Given the description of an element on the screen output the (x, y) to click on. 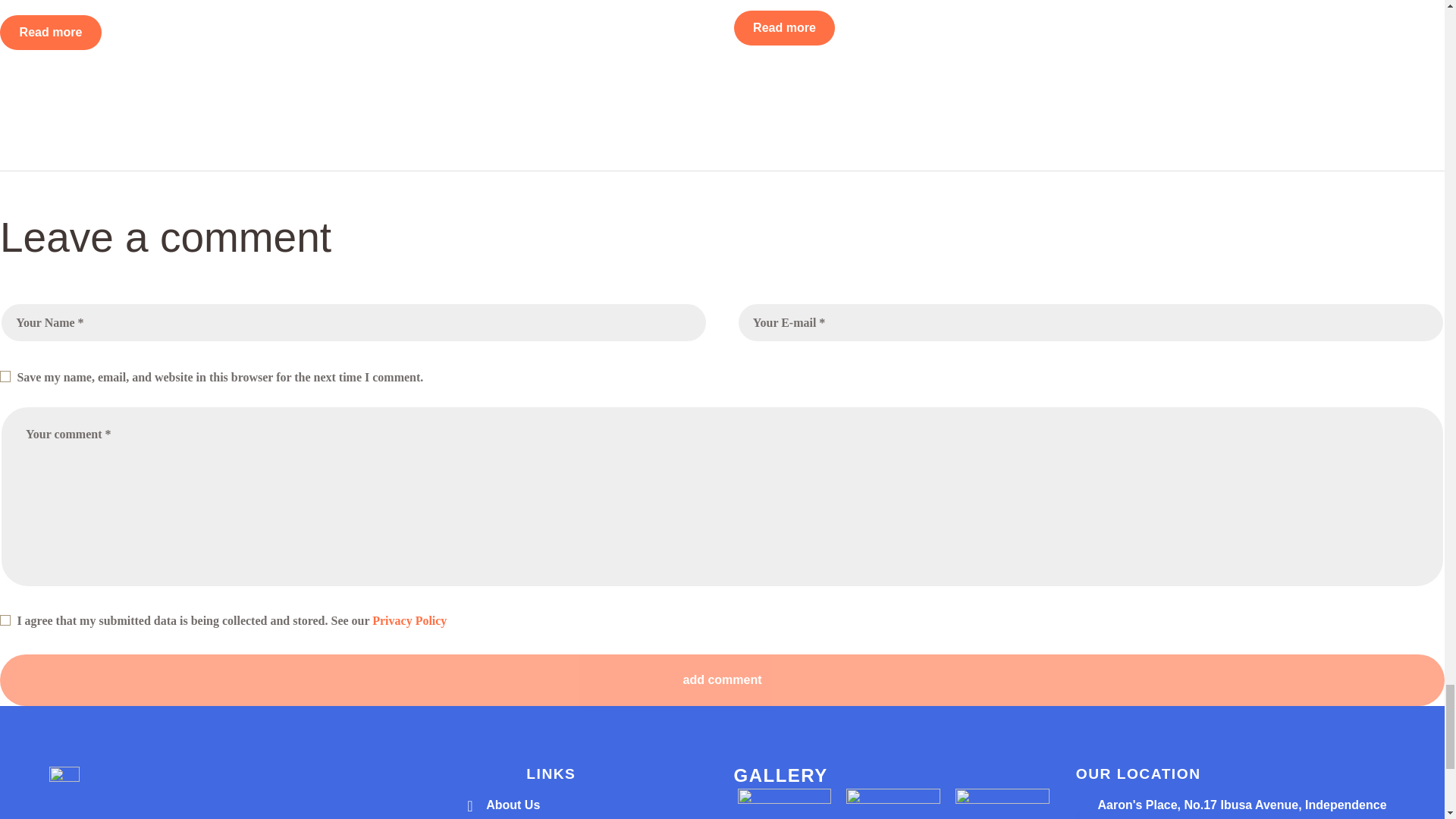
add comment (722, 679)
